Given the description of an element on the screen output the (x, y) to click on. 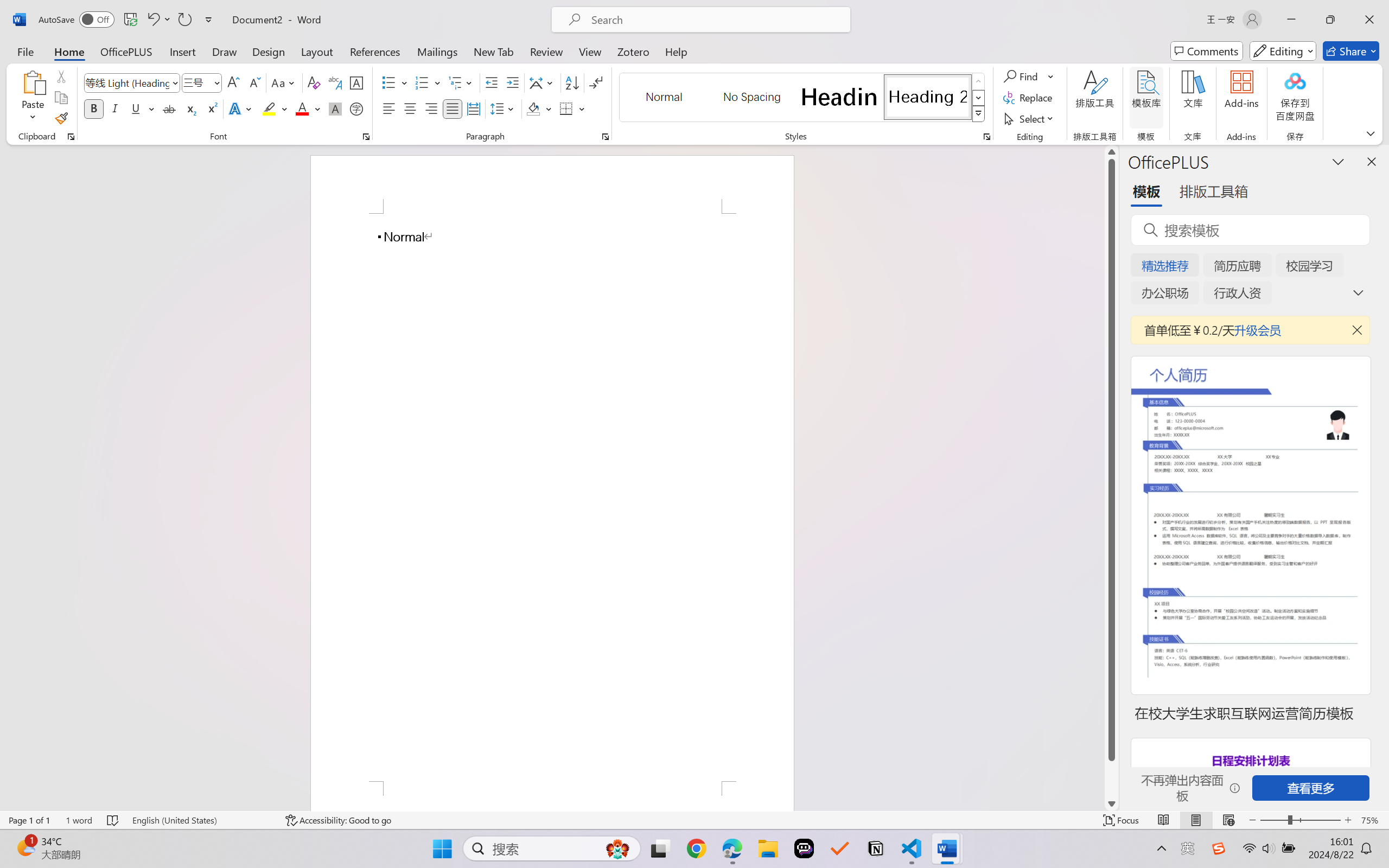
Bullets (395, 82)
Text Highlight Color Yellow (269, 108)
AutomationID: DynamicSearchBoxGleamImage (617, 848)
Class: NetUIScrollBar (1111, 477)
AutoSave (76, 19)
Undo Typing (152, 19)
Underline (135, 108)
Share (1350, 51)
Focus  (1121, 819)
Page down (1111, 778)
Paste (33, 81)
